Given the description of an element on the screen output the (x, y) to click on. 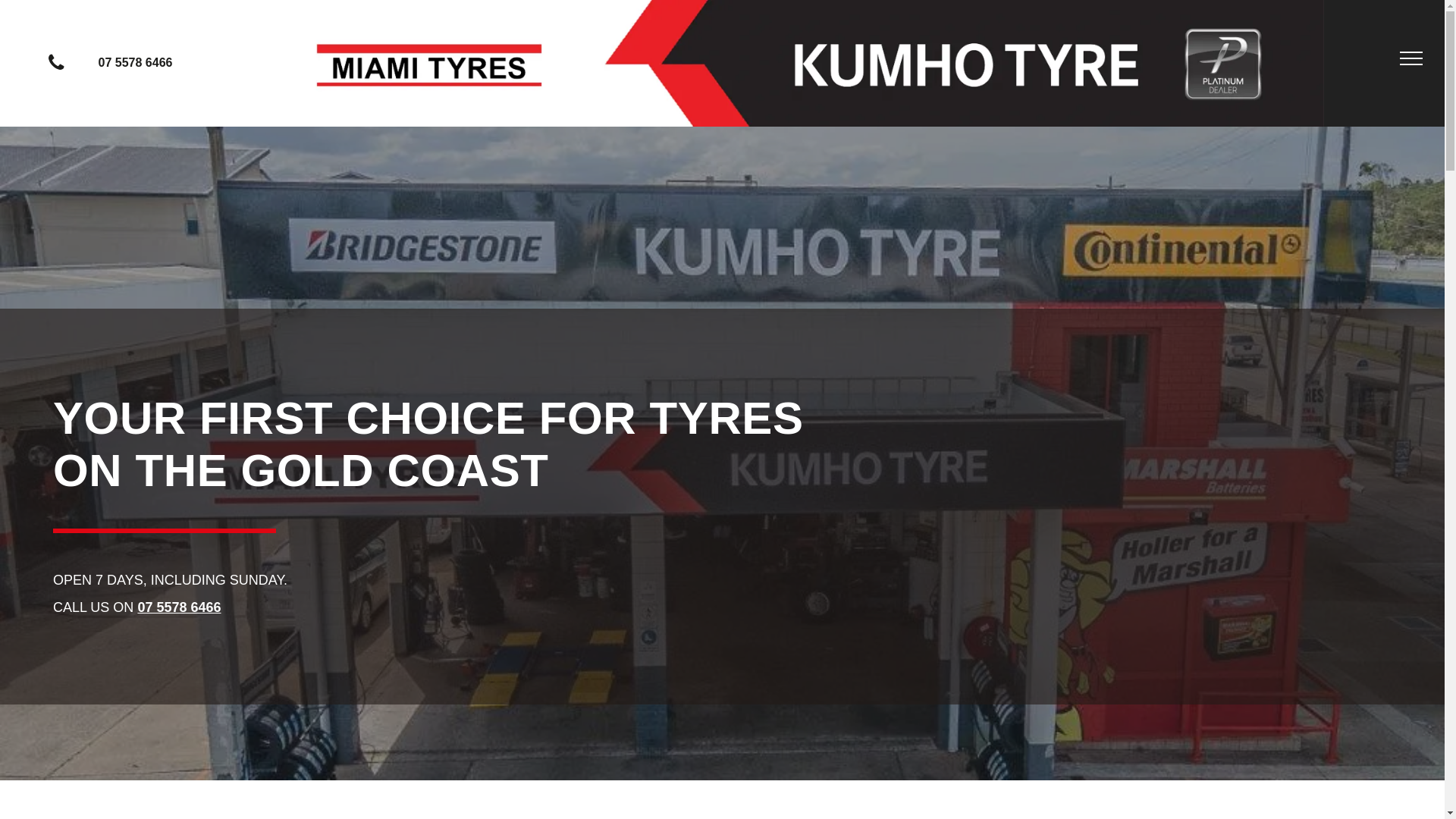
07 5578 6466 Element type: text (120, 62)
07 5578 6466 Element type: text (178, 607)
